Given the description of an element on the screen output the (x, y) to click on. 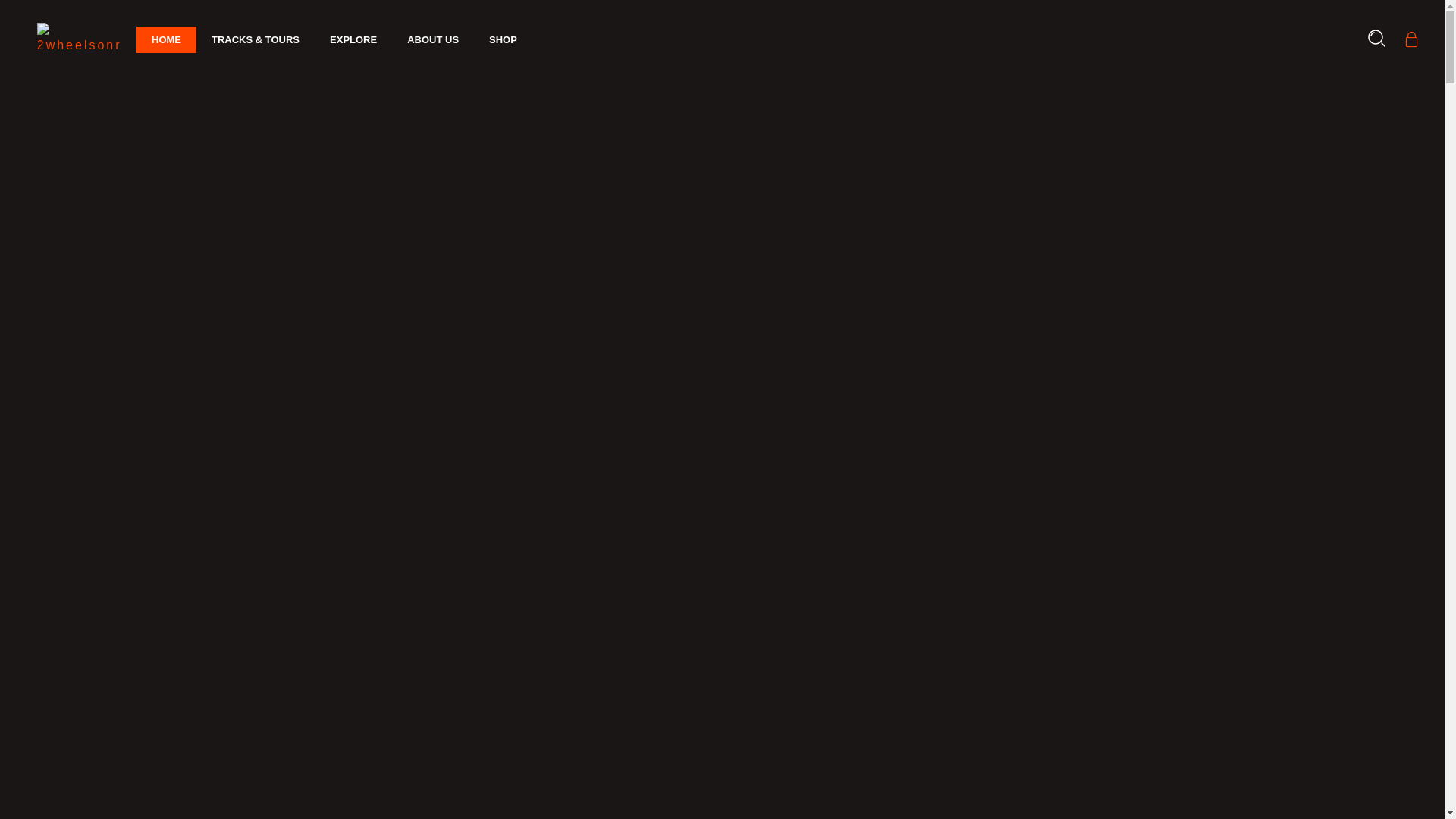
EXPLORE MORE Element type: text (327, 582)
ABOUT US Element type: text (432, 39)
EXPLORE Element type: text (353, 39)
HOME Element type: text (166, 39)
TRACKS & TOURS Element type: text (255, 39)
SHOP Element type: text (502, 39)
